Given the description of an element on the screen output the (x, y) to click on. 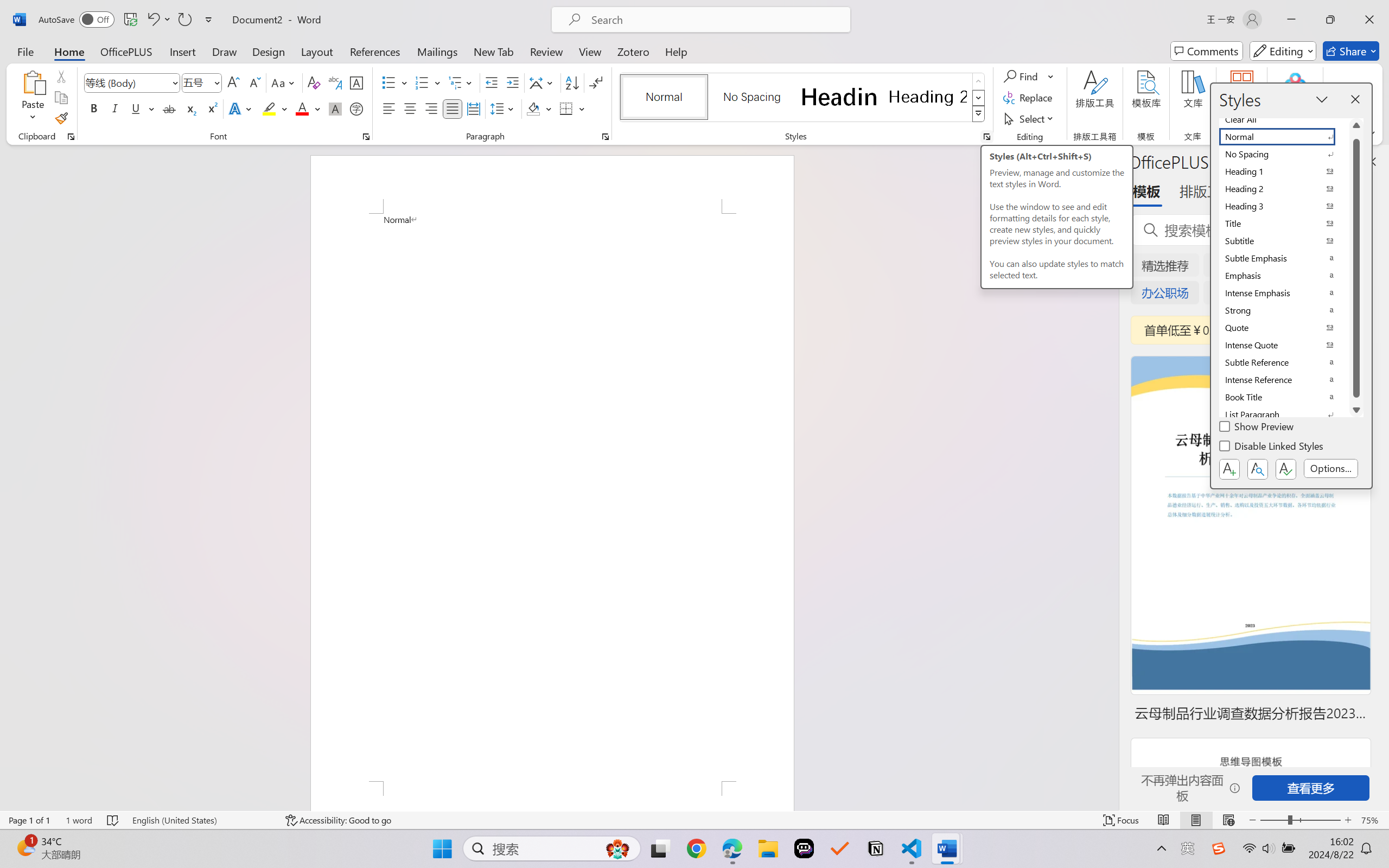
Find (1022, 75)
Normal (1283, 136)
References (375, 51)
Undo Apply Quick Style (152, 19)
Center (409, 108)
Share (1350, 51)
Subtitle (1283, 240)
Font (126, 82)
Book Title (1283, 397)
Class: Image (1218, 847)
Copy (60, 97)
Select (1030, 118)
